Given the description of an element on the screen output the (x, y) to click on. 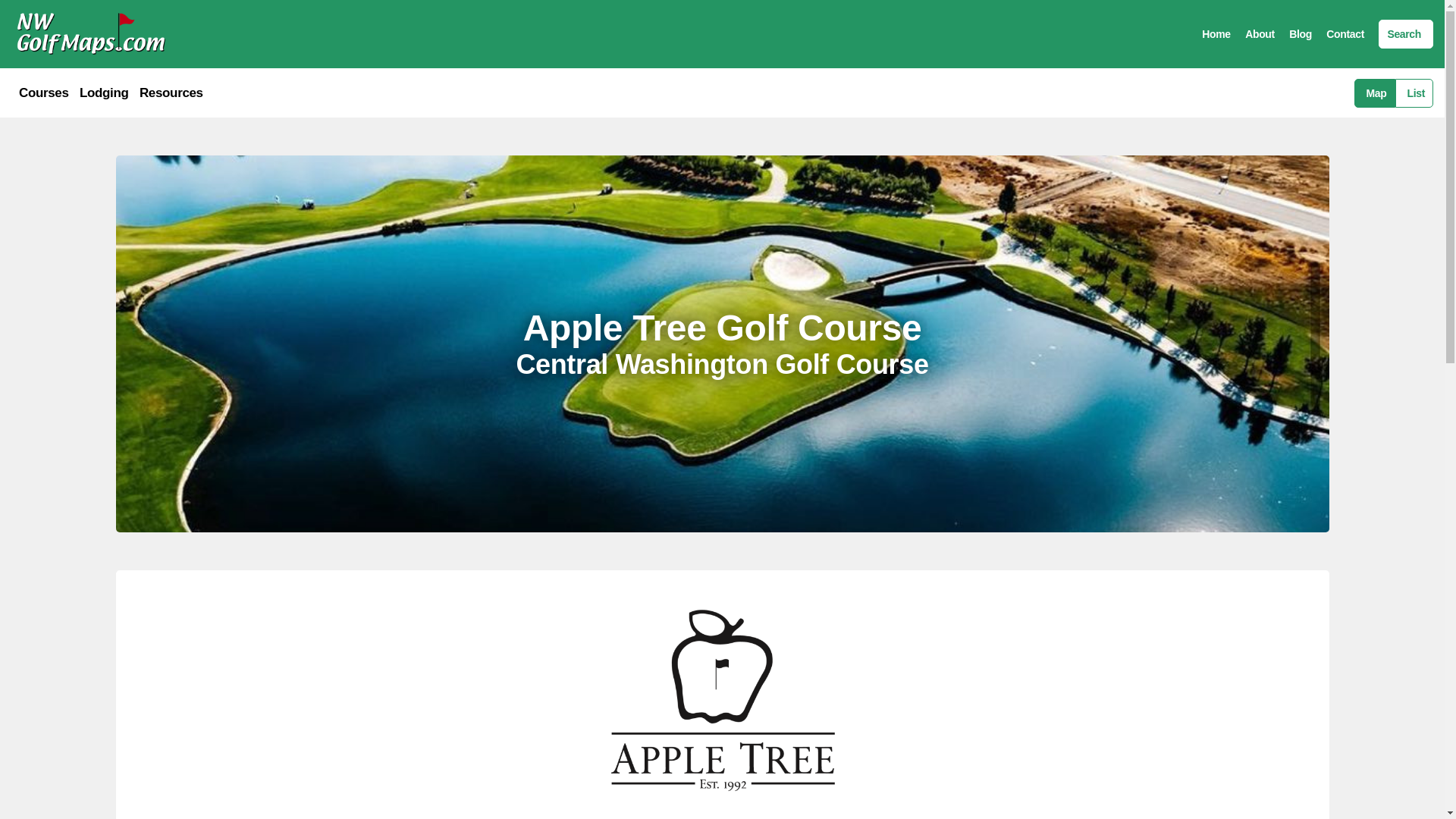
List (1414, 92)
Resources (171, 92)
Lodging (104, 92)
Blog (1299, 33)
Contact (1345, 33)
About (1259, 33)
Courses (43, 92)
Search (1405, 33)
Map (1374, 92)
Home (1216, 33)
